Given the description of an element on the screen output the (x, y) to click on. 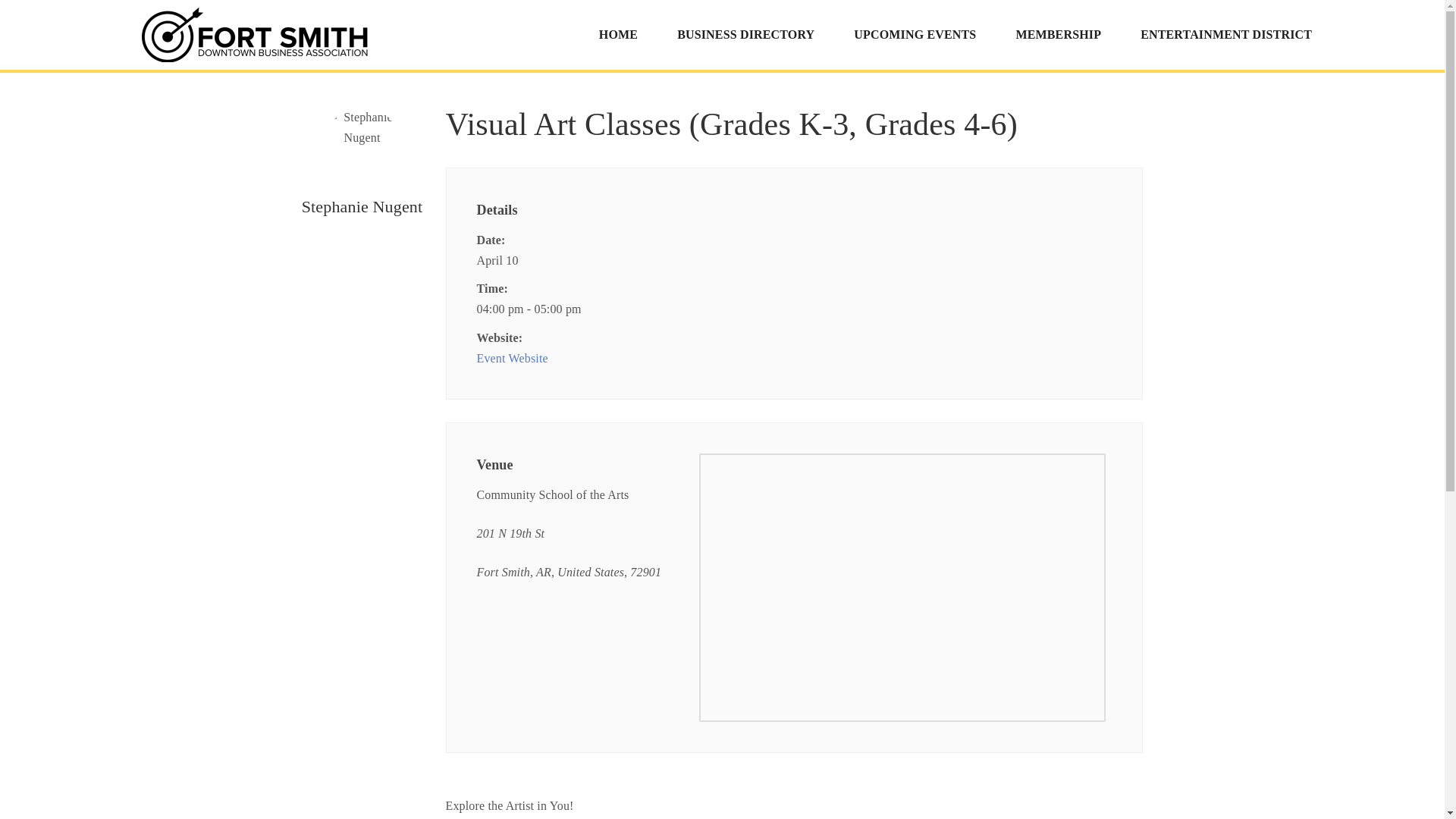
UPCOMING EVENTS (914, 34)
FSDBA (255, 34)
BUSINESS DIRECTORY (746, 34)
HOME (618, 34)
MEMBERSHIP (1058, 34)
ENTERTAINMENT DISTRICT (1226, 34)
Event Website (511, 358)
